Given the description of an element on the screen output the (x, y) to click on. 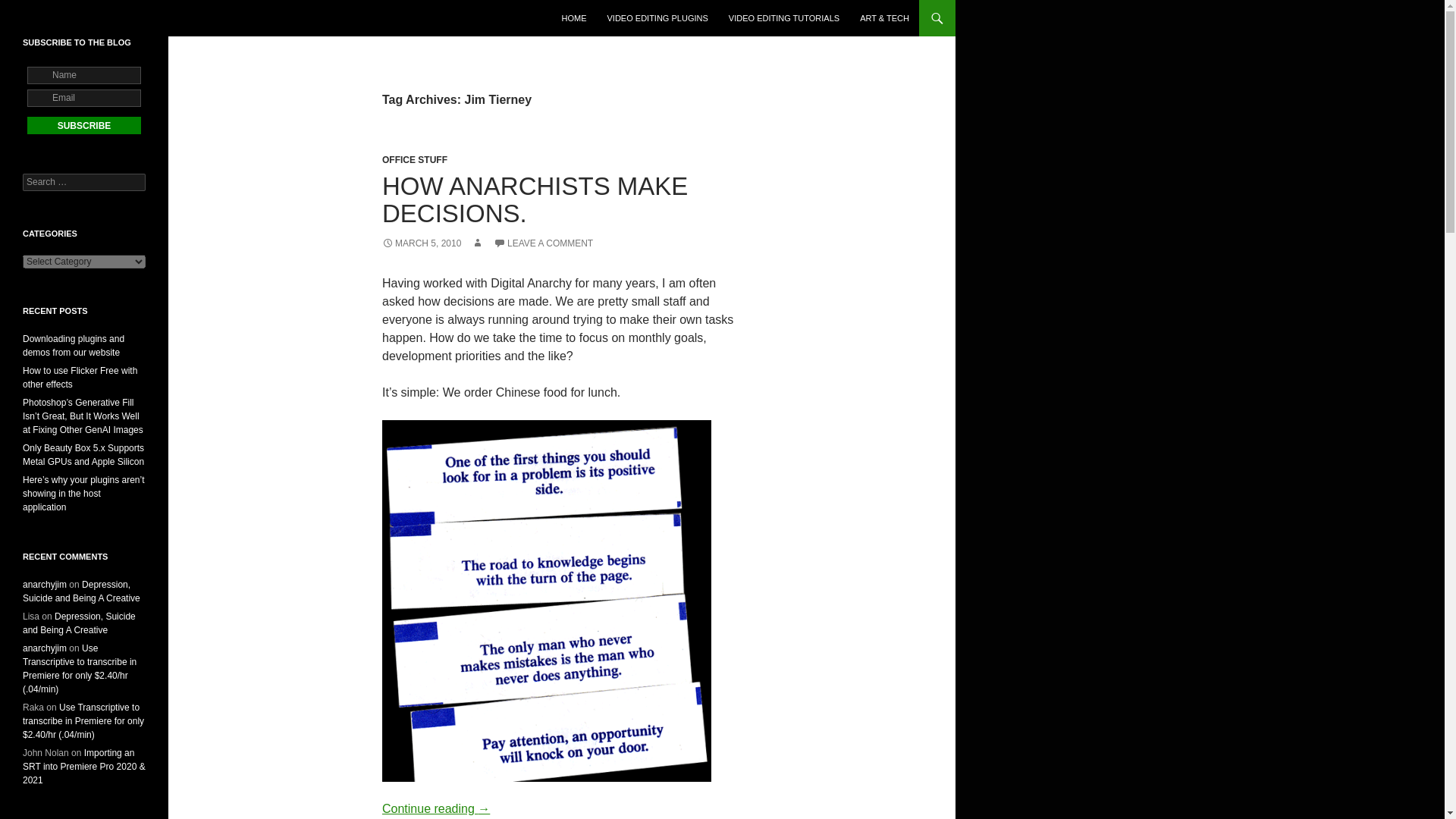
Anarchyjim (60, 18)
VIDEO EDITING PLUGINS (657, 18)
HOW ANARCHISTS MAKE DECISIONS. (534, 199)
030210-fortunesSMbl (546, 601)
HOME (573, 18)
LEAVE A COMMENT (542, 243)
OFFICE STUFF (413, 159)
VIDEO EDITING TUTORIALS (783, 18)
MARCH 5, 2010 (421, 243)
Subscribe (84, 125)
